Given the description of an element on the screen output the (x, y) to click on. 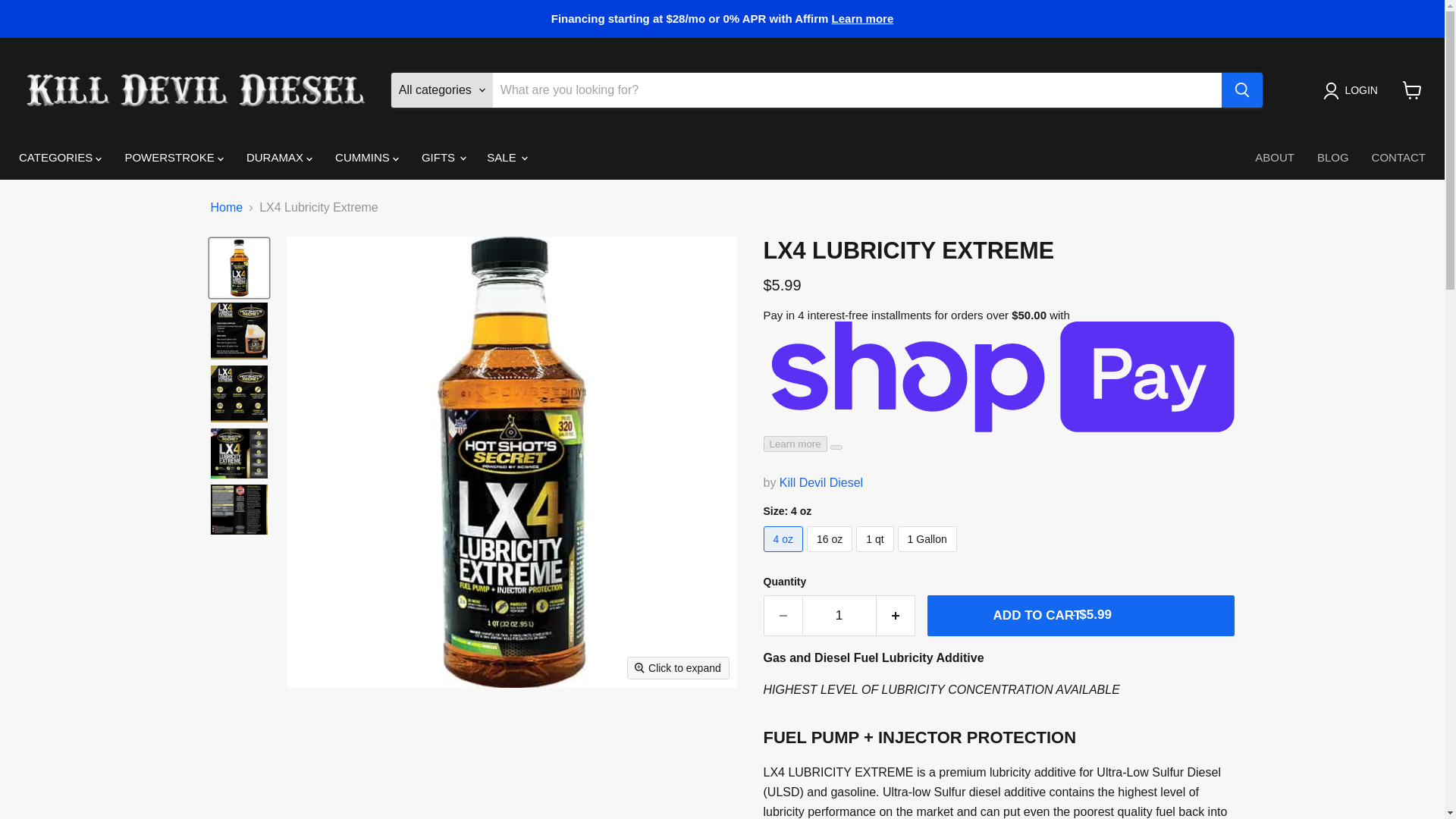
Learn more (862, 18)
LOGIN (1353, 90)
View cart (1411, 90)
Kill Devil Diesel (820, 481)
1 (839, 615)
